Given the description of an element on the screen output the (x, y) to click on. 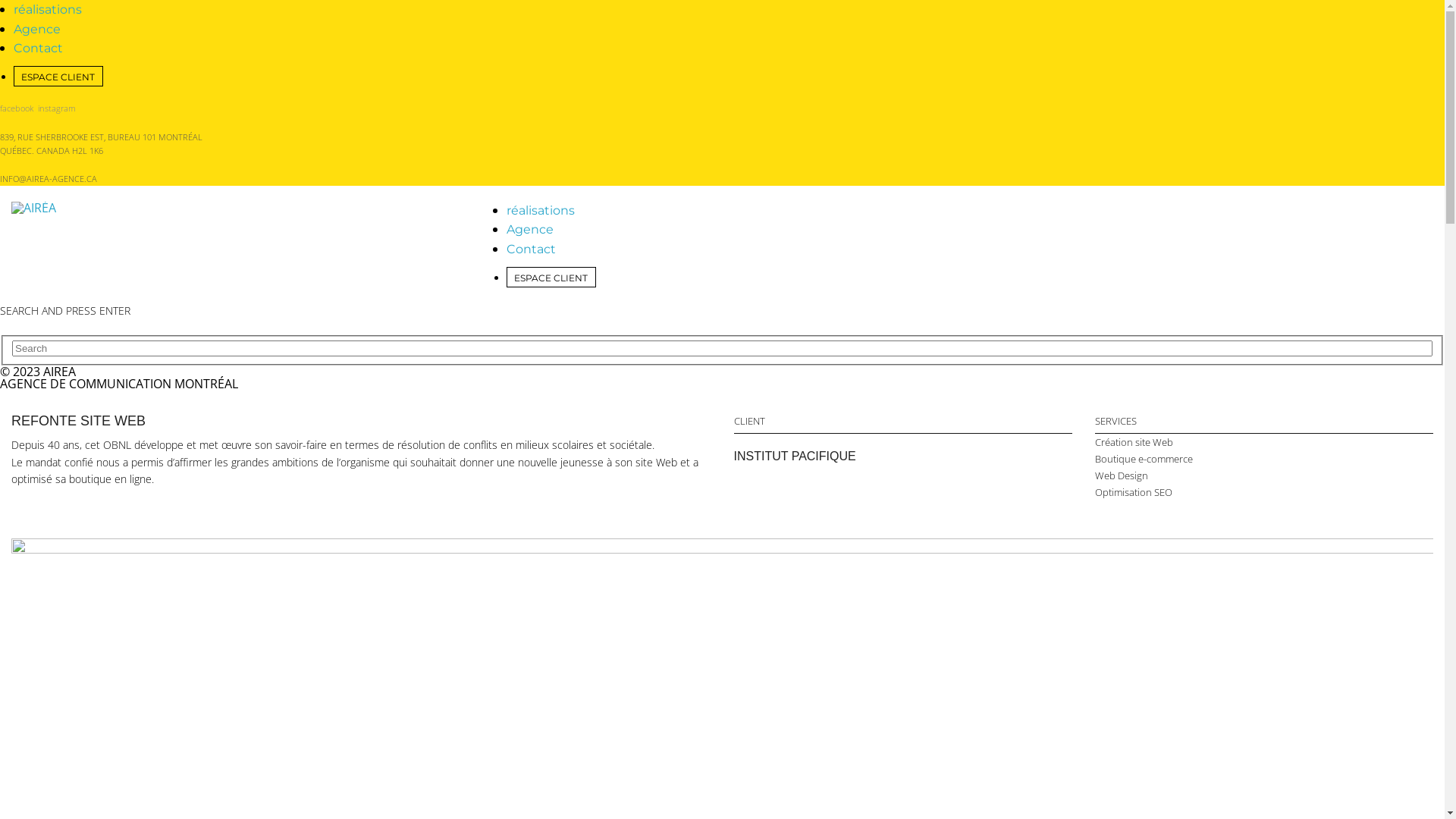
Agence Element type: text (36, 28)
facebook Element type: text (16, 107)
Contact Element type: text (37, 47)
Agence Element type: text (529, 229)
Contact Element type: text (530, 248)
ESPACE CLIENT Element type: text (57, 76)
instagram Element type: text (55, 107)
ESPACE CLIENT Element type: text (550, 277)
